Given the description of an element on the screen output the (x, y) to click on. 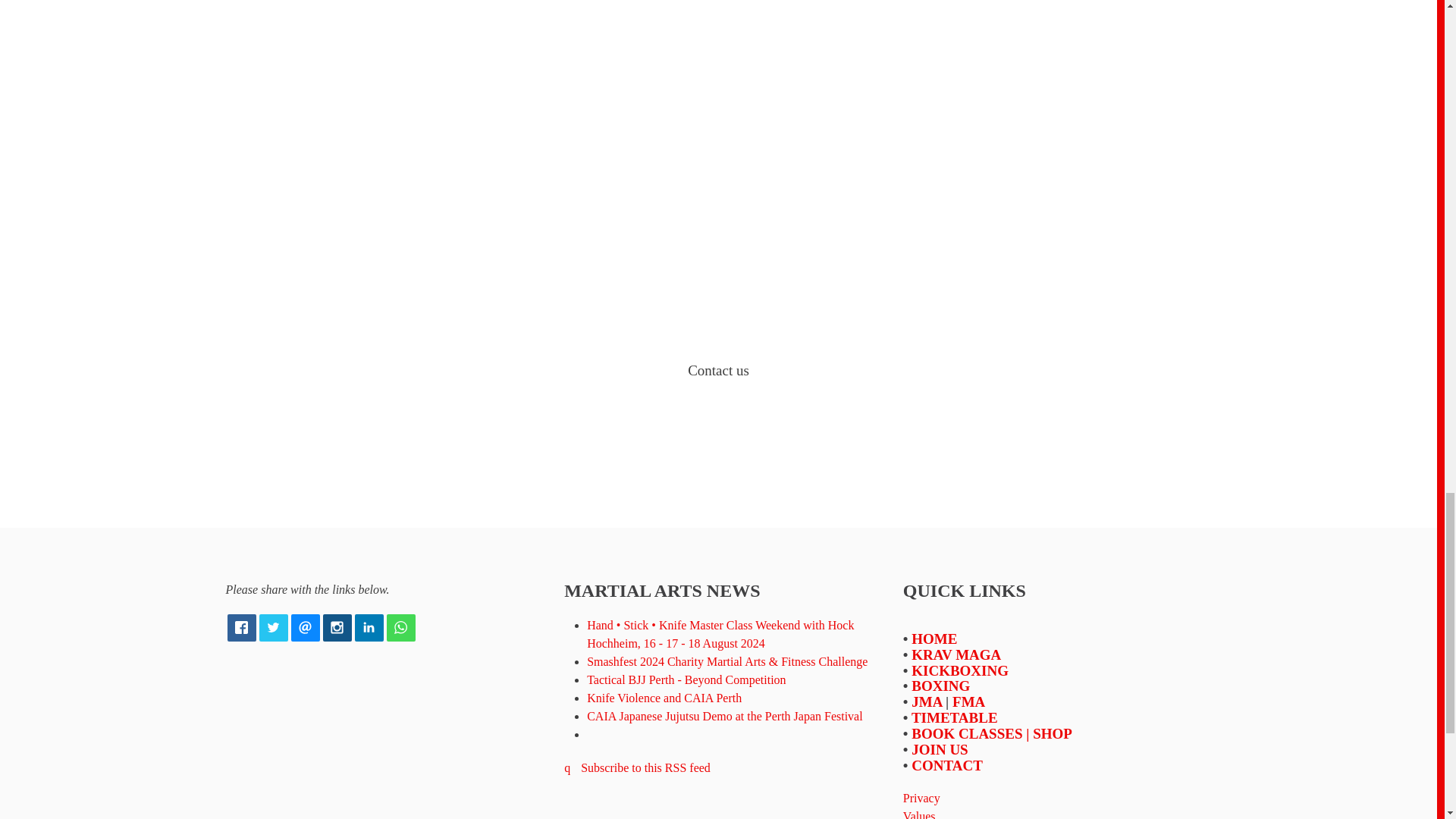
Japanese Jujutsu Perth (926, 701)
Perth Kickboxing (960, 670)
Filipino Escrima Kali Arnis Perth (968, 701)
Subscribe to this RSS feed (637, 767)
Krav Maga Perth Privacy (921, 797)
Krav Maga Perth (956, 654)
Contact CAIA (946, 765)
Boxing Perth (940, 685)
